Given the description of an element on the screen output the (x, y) to click on. 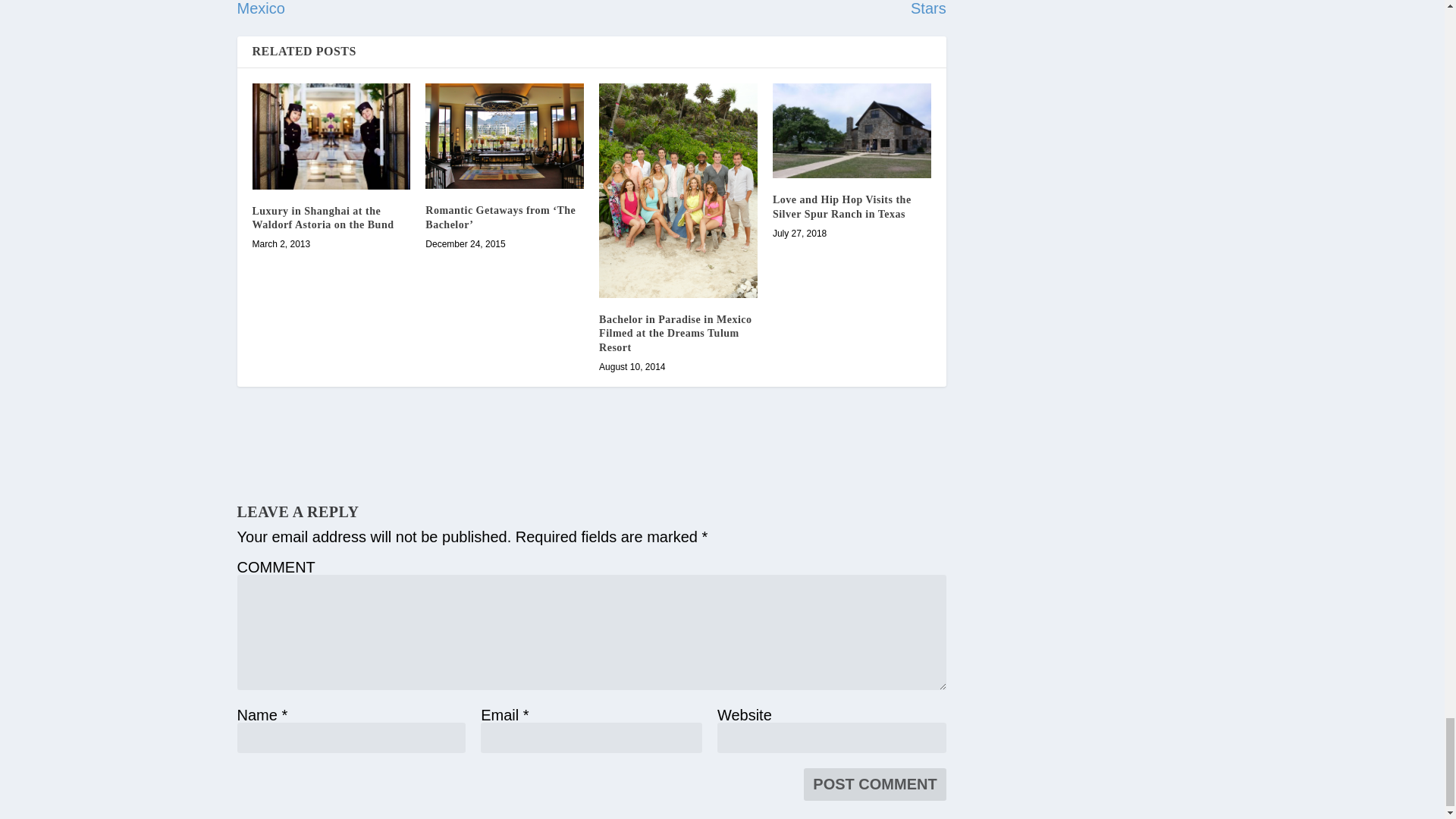
Post Comment (873, 784)
